Given the description of an element on the screen output the (x, y) to click on. 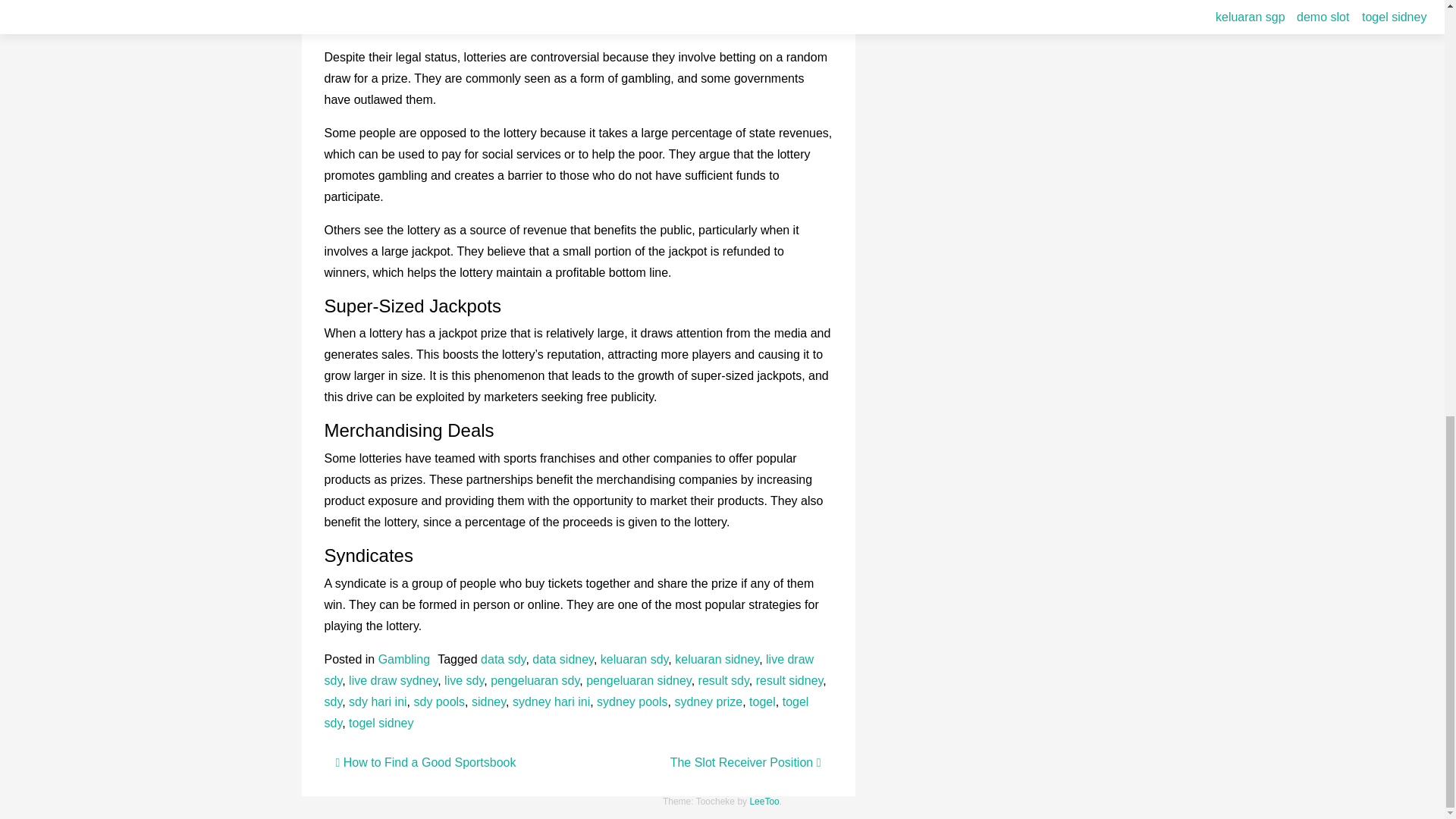
pengeluaran sdy (534, 680)
sydney pools (631, 701)
togel sidney (381, 722)
sidney (488, 701)
live draw sdy (568, 669)
 How to Find a Good Sportsbook (424, 762)
togel sdy (566, 712)
togel (762, 701)
sydney prize (708, 701)
data sdy (502, 658)
